Given the description of an element on the screen output the (x, y) to click on. 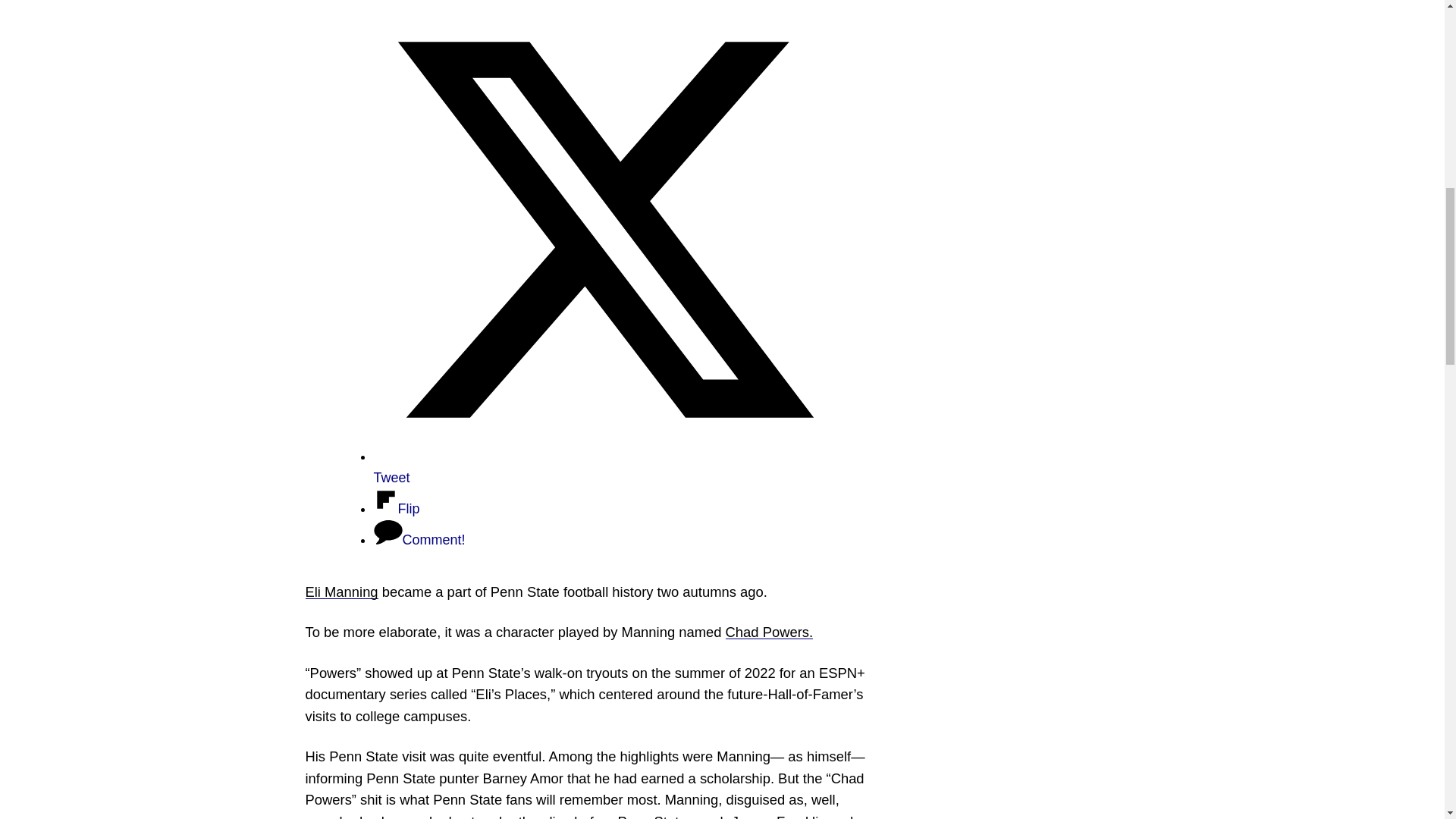
Share on Comment! (418, 539)
Share on Tweet (603, 466)
Share on Flip (395, 508)
